Given the description of an element on the screen output the (x, y) to click on. 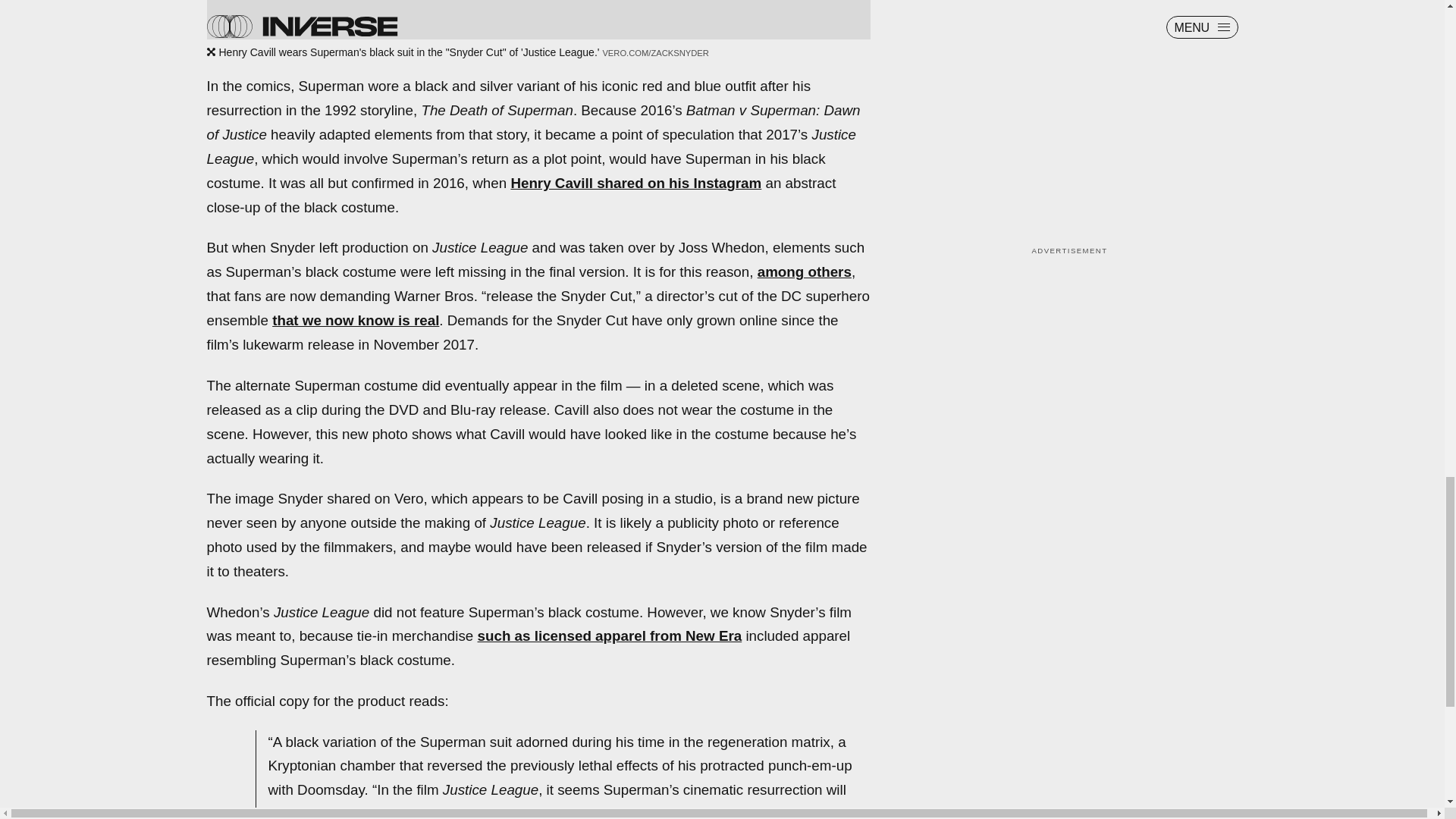
among others (804, 271)
that we now know is real (355, 320)
Henry Cavill shared on his Instagram (636, 182)
such as licensed apparel from New Era (609, 635)
